Given the description of an element on the screen output the (x, y) to click on. 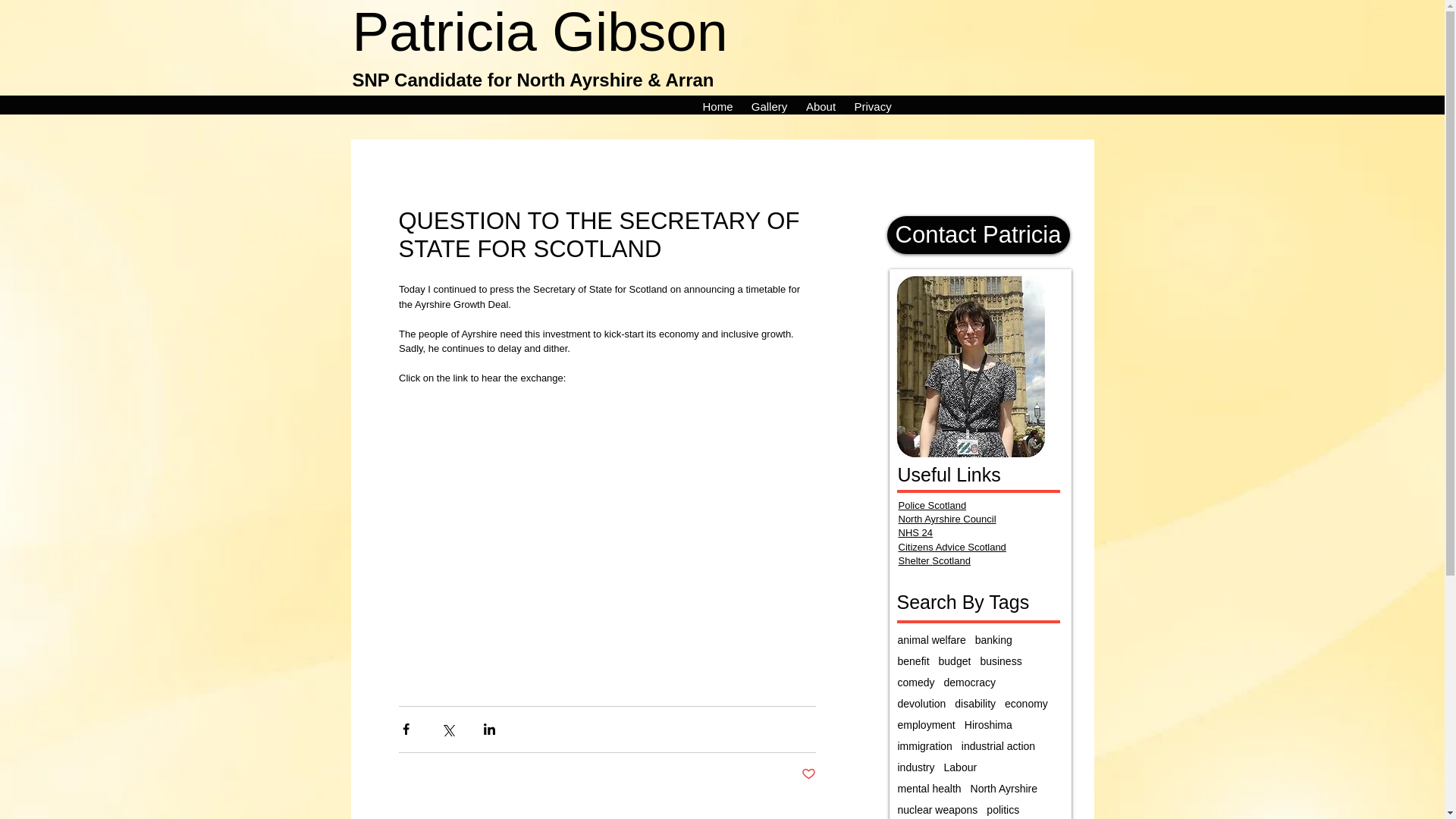
Hiroshima (987, 725)
Labour (959, 767)
employment (926, 725)
NHS (909, 532)
immigration (925, 746)
Privacy (871, 104)
budget (955, 661)
banking (993, 639)
Patricia Gibson (539, 31)
democracy (969, 682)
politics (1003, 809)
economy (1026, 703)
Council (978, 518)
animal welfare (932, 639)
mental health (929, 788)
